Given the description of an element on the screen output the (x, y) to click on. 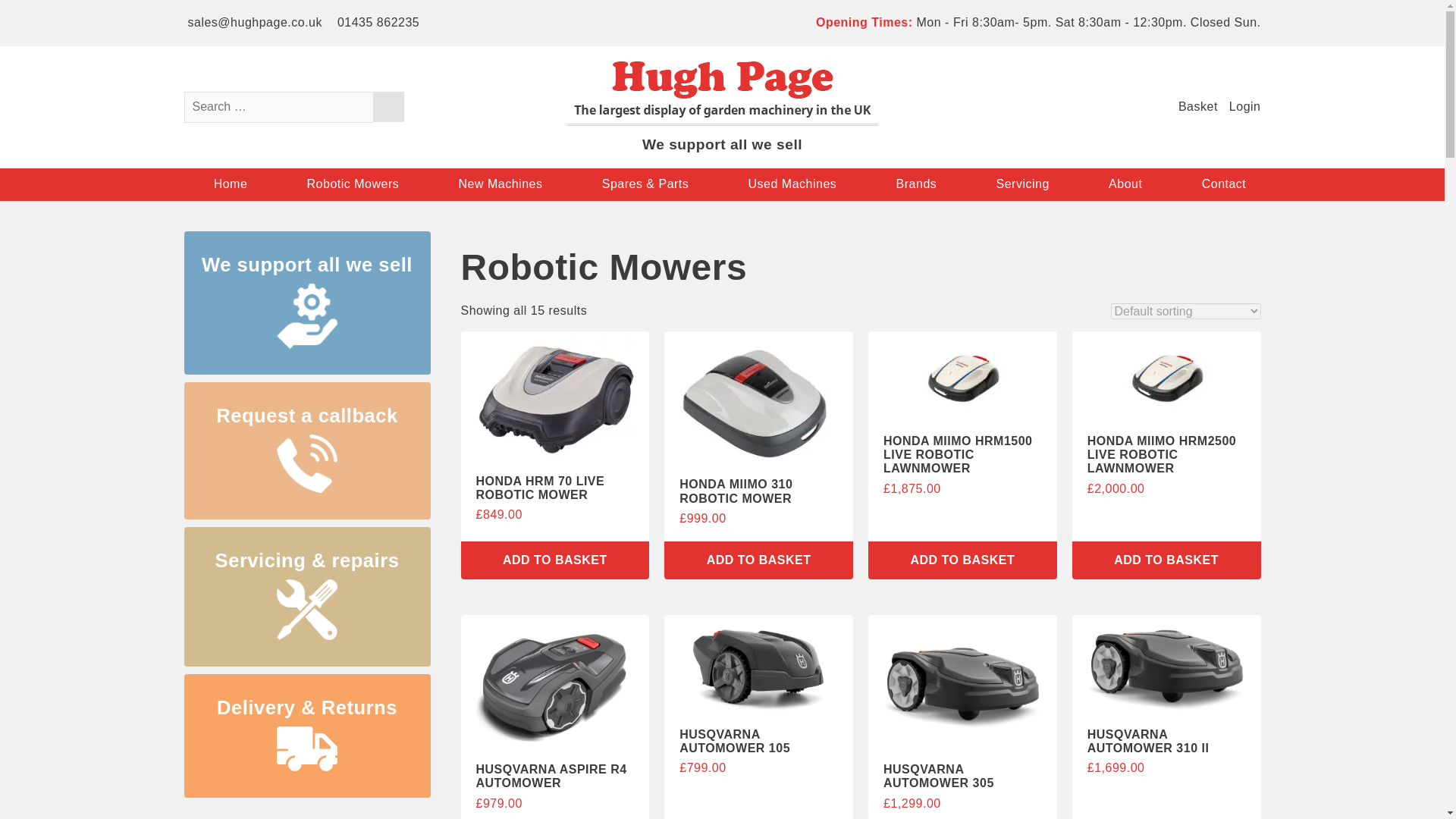
About (1125, 183)
Used Machines (792, 183)
Brands (915, 183)
New Machines (499, 183)
Servicing (1022, 183)
Login (1242, 107)
We support all we sell (306, 302)
ADD TO BASKET (1165, 560)
01435 862235 (376, 23)
Search for: (277, 106)
ADD TO BASKET (962, 560)
Request a callback (306, 450)
Contact (1223, 183)
Hugh Page (722, 121)
Home (229, 183)
